Given the description of an element on the screen output the (x, y) to click on. 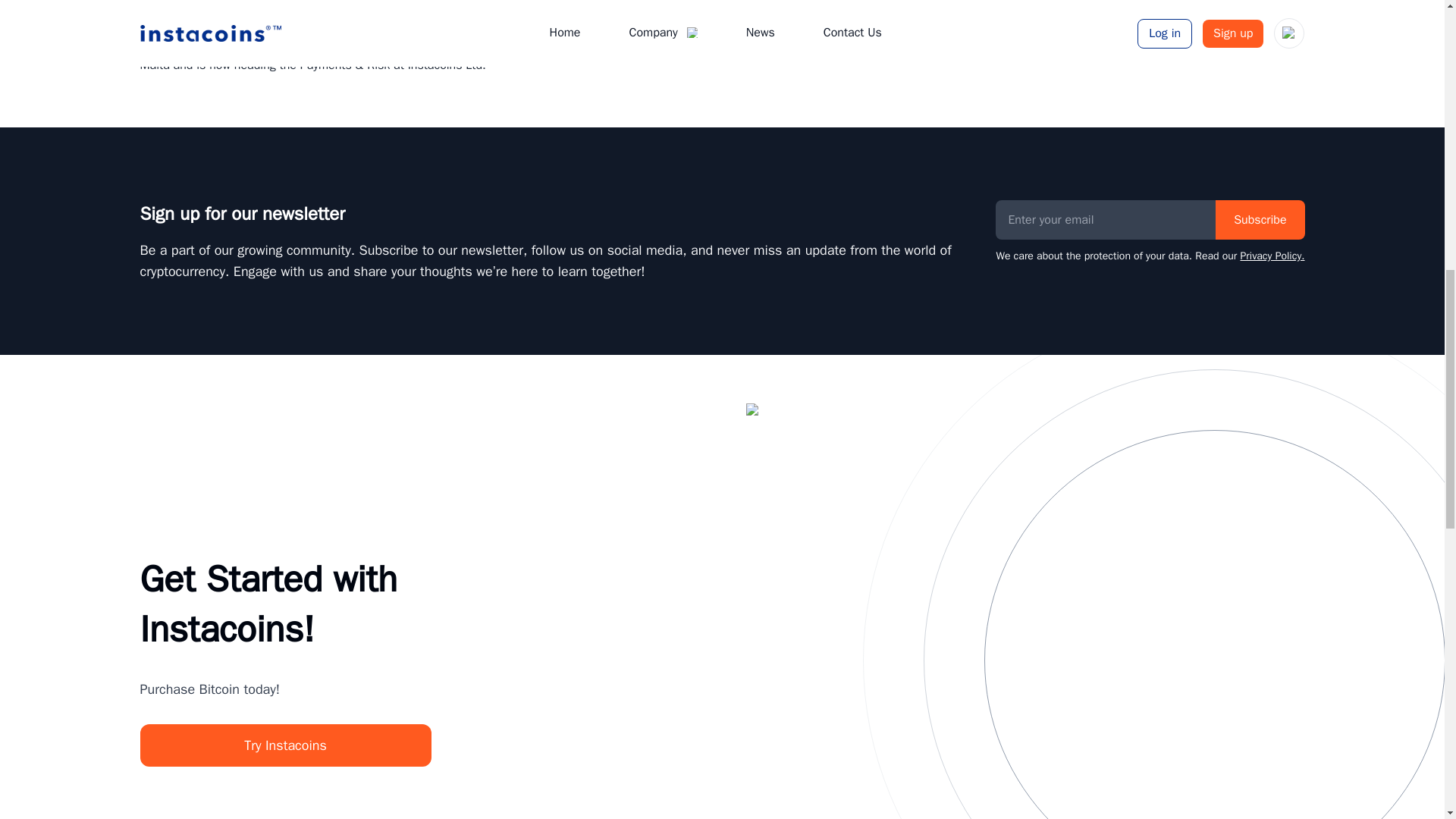
Privacy Policy. (1272, 255)
Try Instacoins (284, 744)
Subscribe (1259, 219)
